Given the description of an element on the screen output the (x, y) to click on. 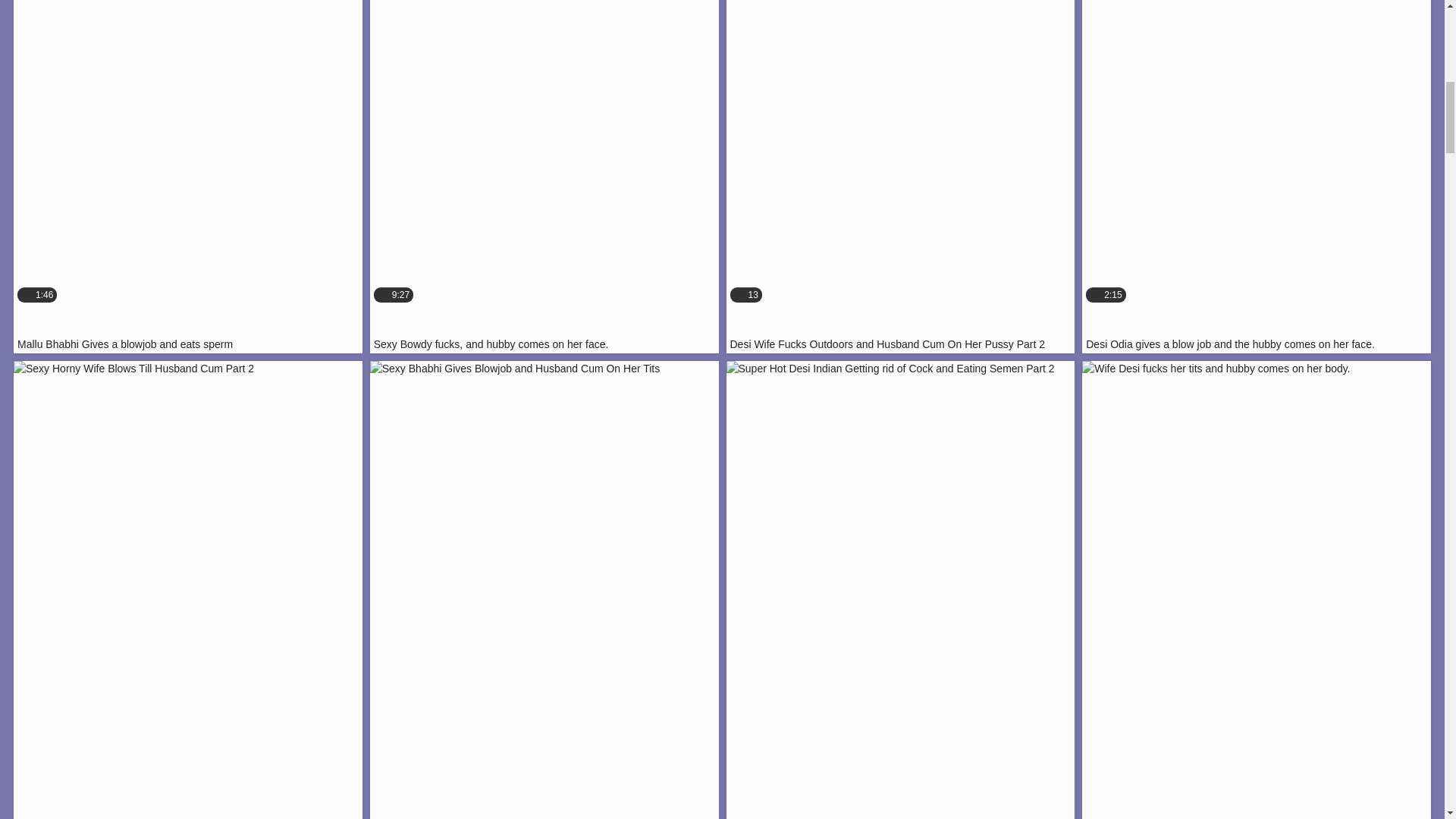
Sexy Bowdy fucks, and hubby comes on her face. (544, 176)
Desi Odia gives a blow job and the hubby comes on her face. (544, 176)
Desi Wife Fucks Outdoors and Husband Cum On Her Pussy Part 2 (1256, 176)
Mallu Bhabhi Gives a blowjob and eats sperm (900, 176)
